Given the description of an element on the screen output the (x, y) to click on. 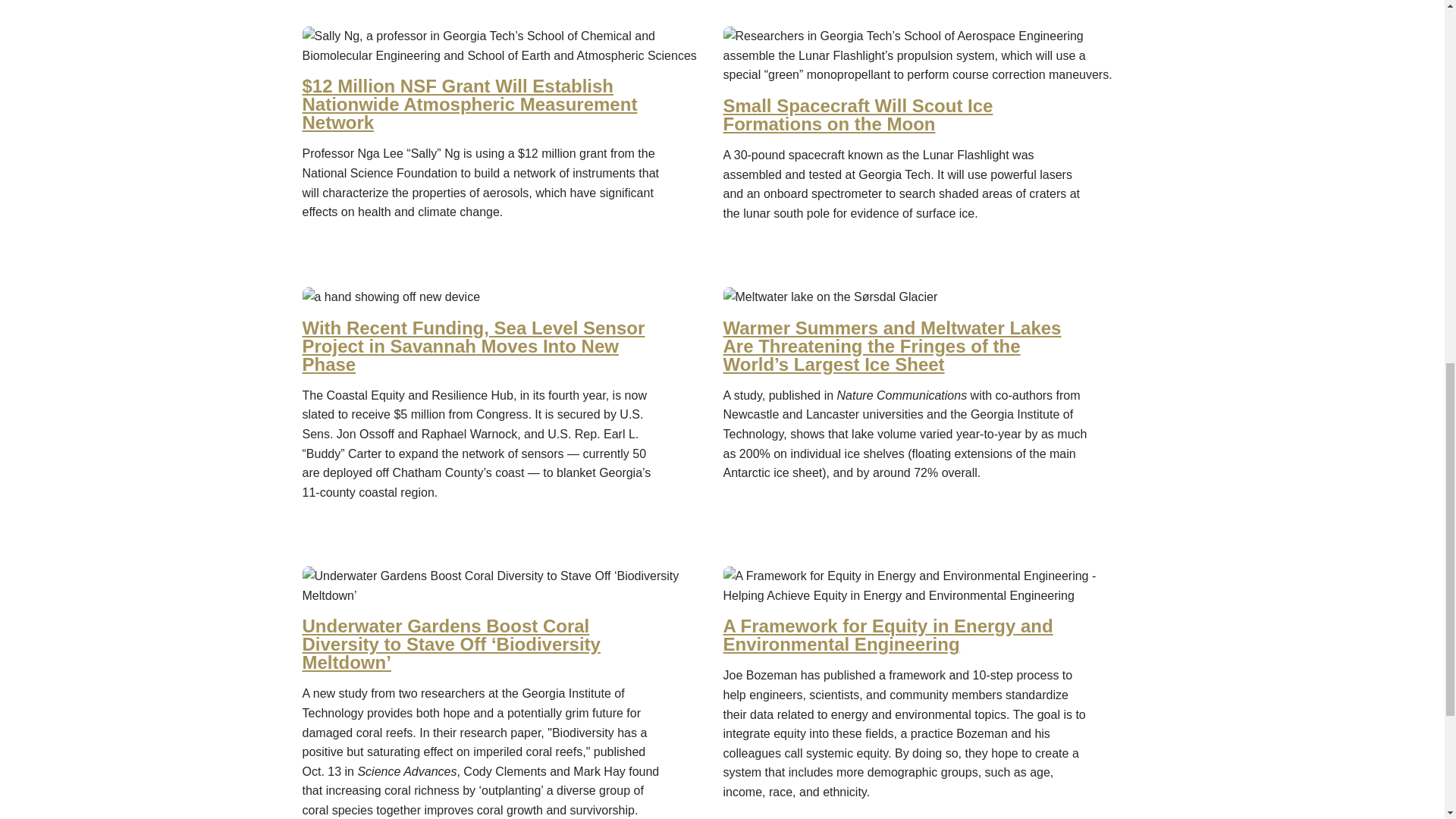
Small Spacecraft Will Scout Ice Formations on the Moon (905, 115)
